Given the description of an element on the screen output the (x, y) to click on. 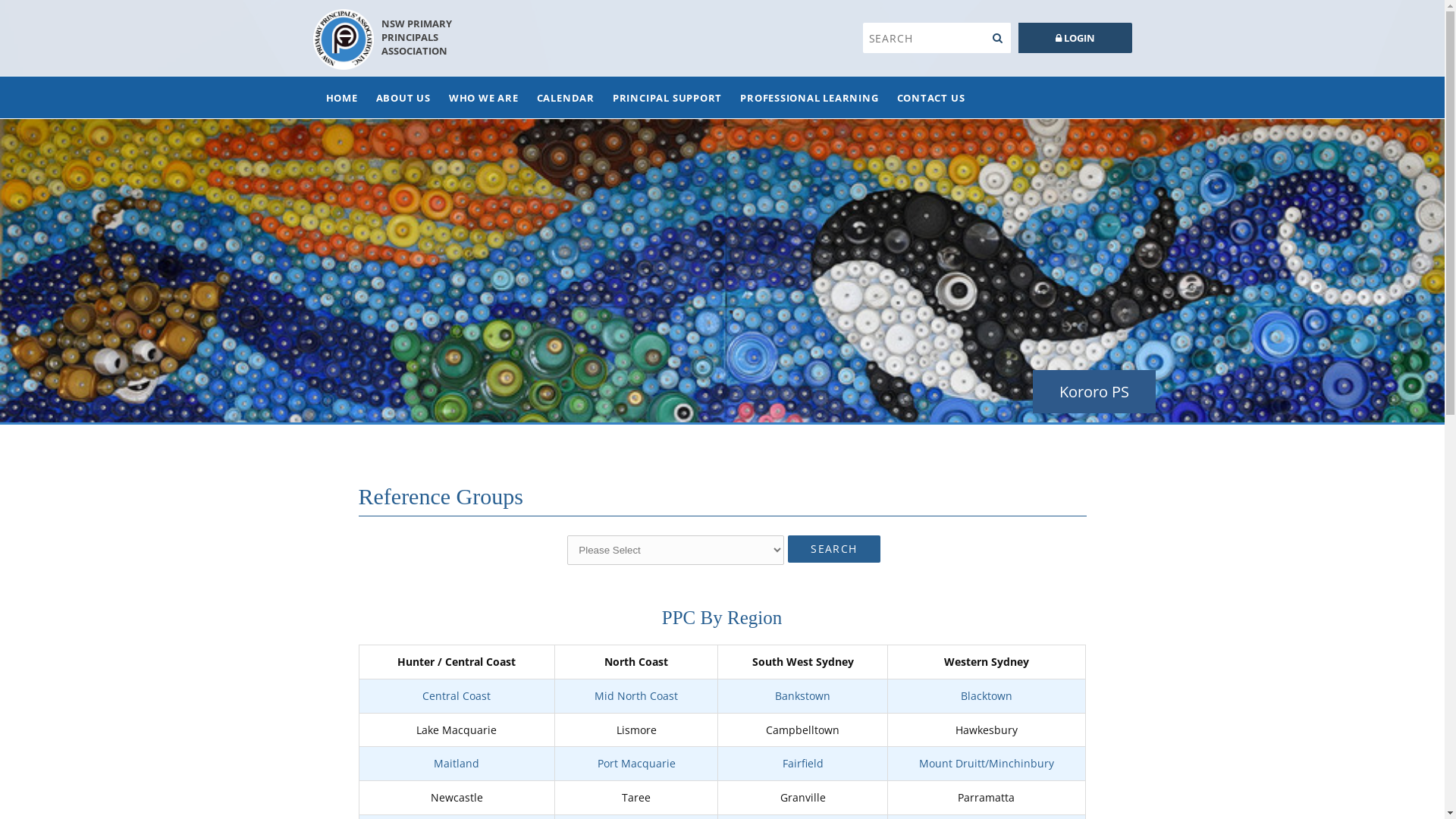
Search Element type: hover (923, 37)
ABOUT US Element type: text (403, 97)
SEARCH Element type: text (833, 548)
PRINCIPAL SUPPORT Element type: text (666, 97)
CONTACT US Element type: text (931, 97)
HOME Element type: text (341, 97)
PROFESSIONAL LEARNING Element type: text (809, 97)
WHO WE ARE Element type: text (483, 97)
CALENDAR Element type: text (565, 97)
Search Element type: hover (997, 37)
